Given the description of an element on the screen output the (x, y) to click on. 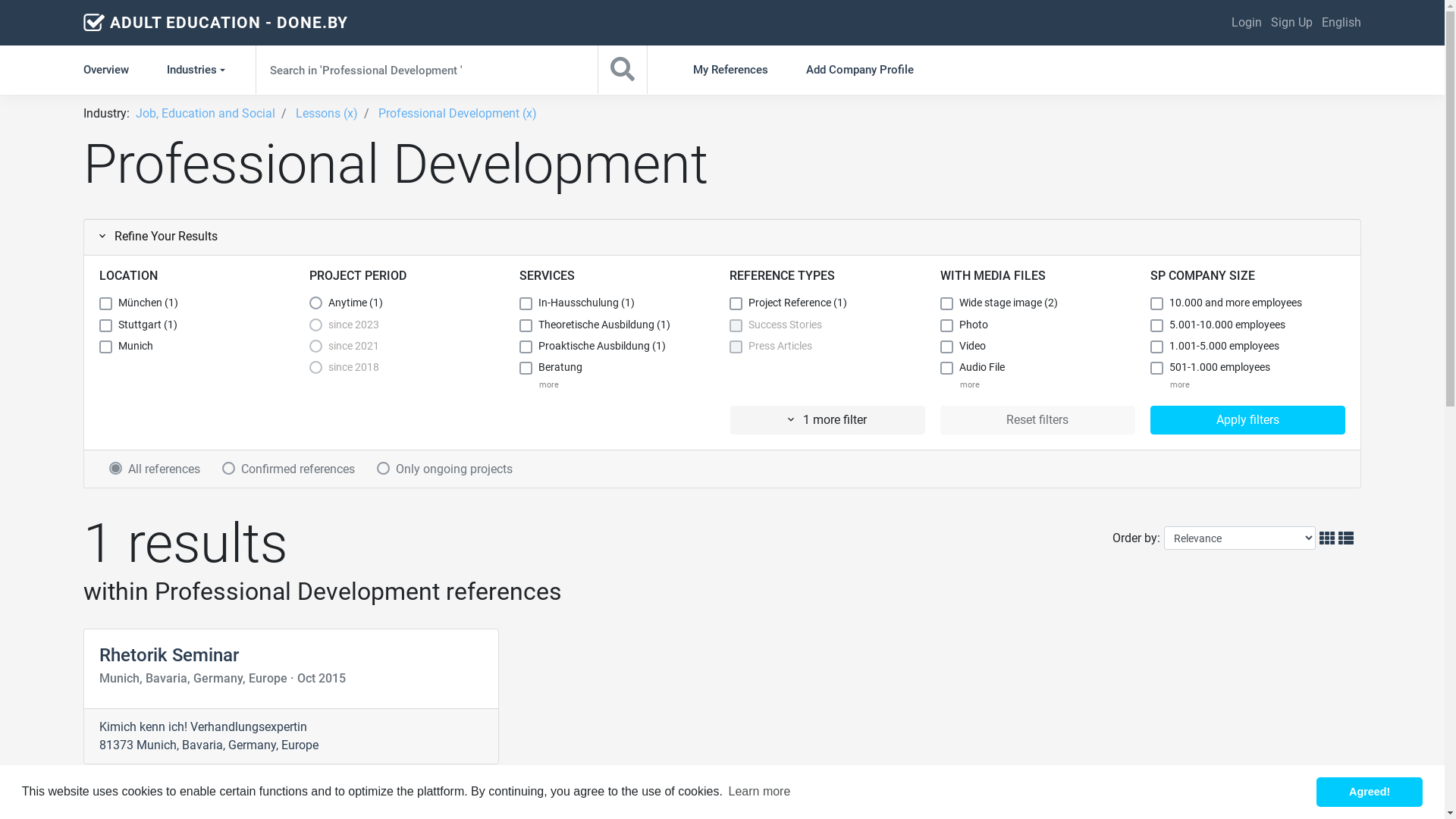
ADULT EDUCATION - DONE.BY Element type: text (228, 22)
  1 more filter Element type: text (826, 419)
Lessons Element type: text (317, 113)
81373 Munich, Bavaria, Germany, Europe Element type: text (208, 744)
Reset filters Element type: text (1037, 419)
Tiles View Element type: hover (1328, 538)
Kimich kenn ich! Verhandlungsexpertin Element type: text (203, 726)
more Element type: text (545, 386)
Professional Development Element type: text (450, 113)
Login Element type: text (1246, 22)
Apply filters Element type: text (1247, 419)
(x) Element type: text (350, 113)
Invite to Beta Element type: text (1363, 799)
Agreed! Element type: text (1369, 791)
Learn more Element type: text (758, 791)
more Element type: text (1176, 386)
more Element type: text (966, 386)
List View Element type: hover (1347, 538)
(x) Element type: text (529, 113)
Sign Up Element type: text (1291, 22)
My References Element type: text (730, 69)
English Element type: text (1341, 22)
Industries Element type: text (197, 69)
Overview Element type: text (115, 69)
  Refine Your Results Element type: text (158, 236)
Add Company Profile Element type: text (859, 69)
Job, Education and Social Element type: text (205, 113)
